Given the description of an element on the screen output the (x, y) to click on. 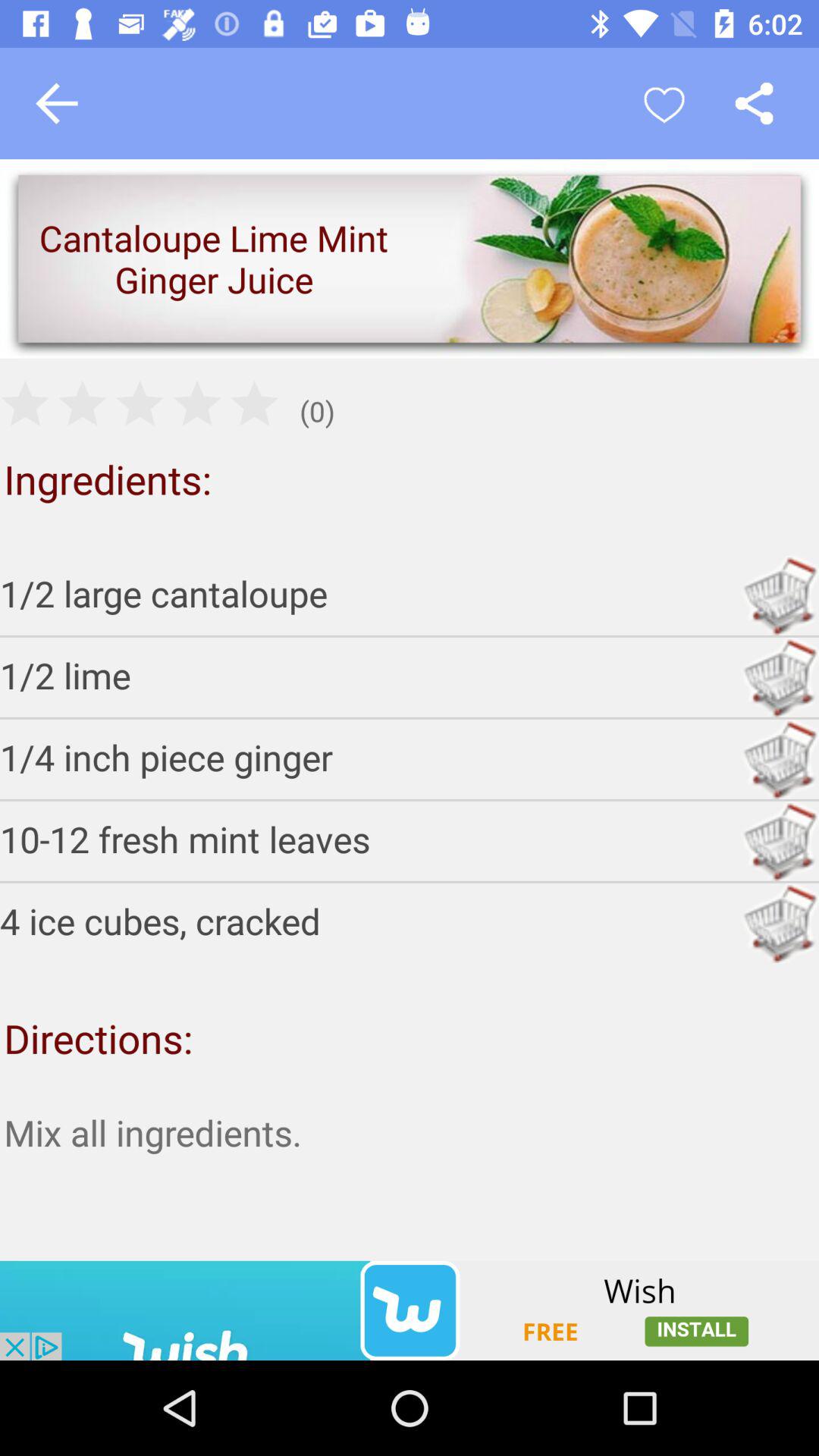
favourites (664, 103)
